Given the description of an element on the screen output the (x, y) to click on. 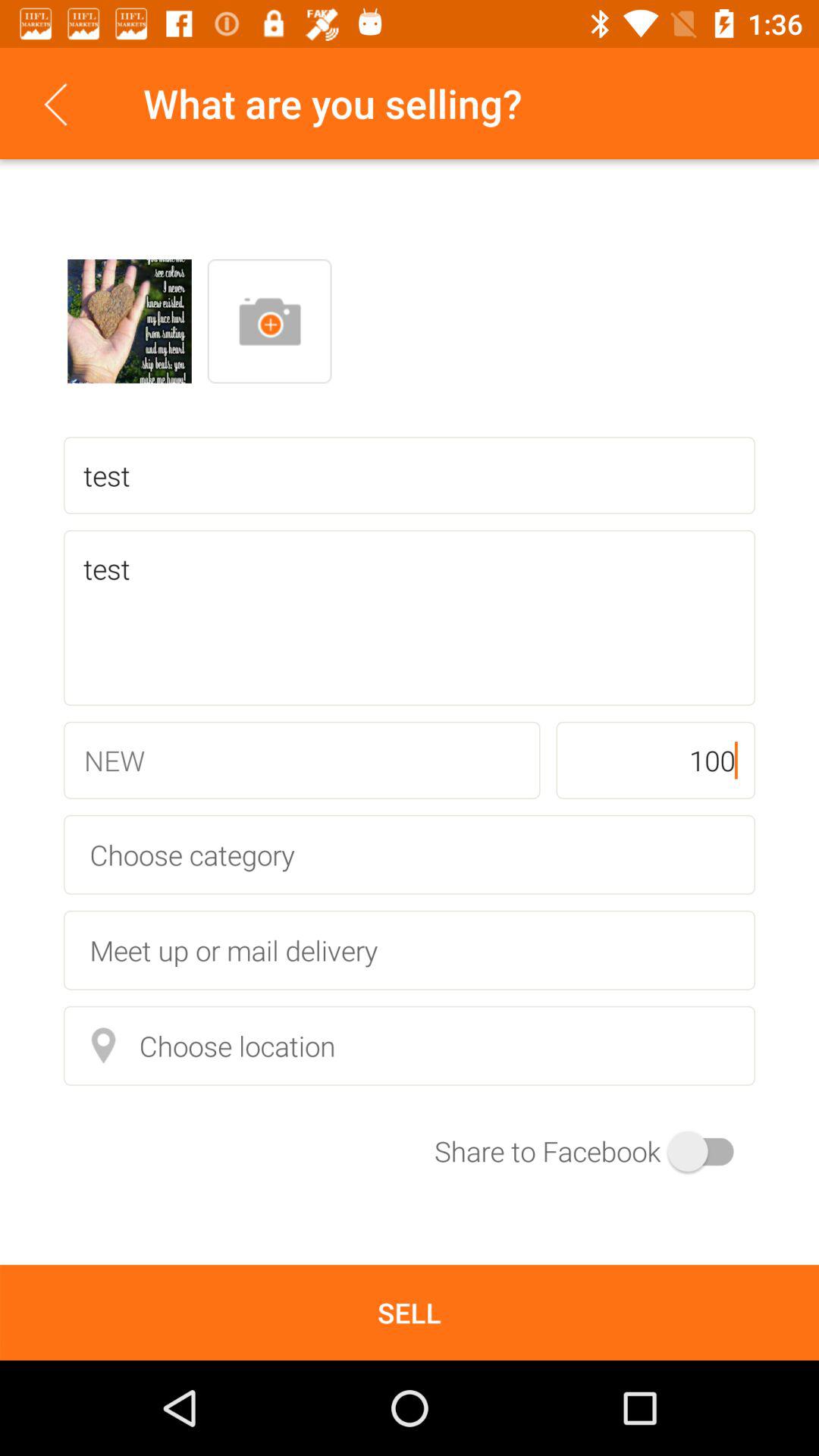
open the icon at the bottom right corner (594, 1151)
